Given the description of an element on the screen output the (x, y) to click on. 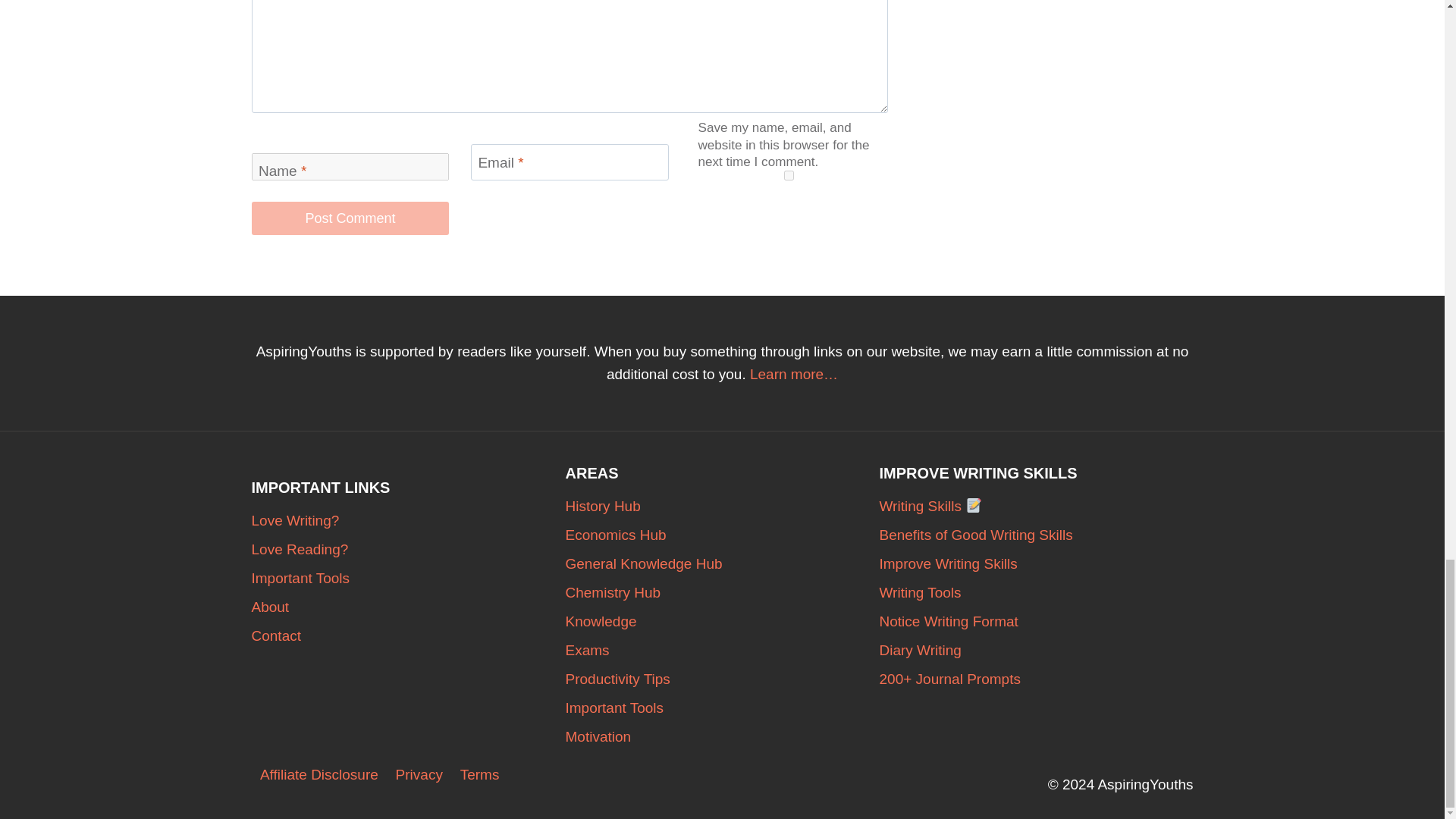
Post Comment (350, 217)
Economics Hub (722, 534)
Knowledge (722, 621)
About (408, 606)
yes (789, 175)
General Knowledge Hub (722, 563)
Love Reading? (408, 549)
Love Writing? (408, 520)
History Hub (722, 506)
Contact (408, 635)
Chemistry Hub (722, 592)
Important Tools (408, 578)
Post Comment (350, 217)
